Given the description of an element on the screen output the (x, y) to click on. 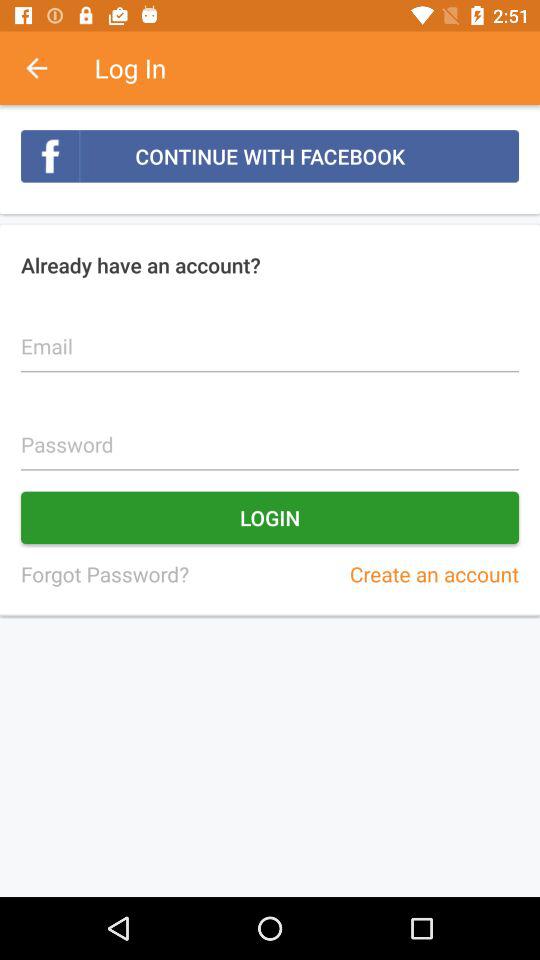
launch item above the already have an (270, 156)
